Given the description of an element on the screen output the (x, y) to click on. 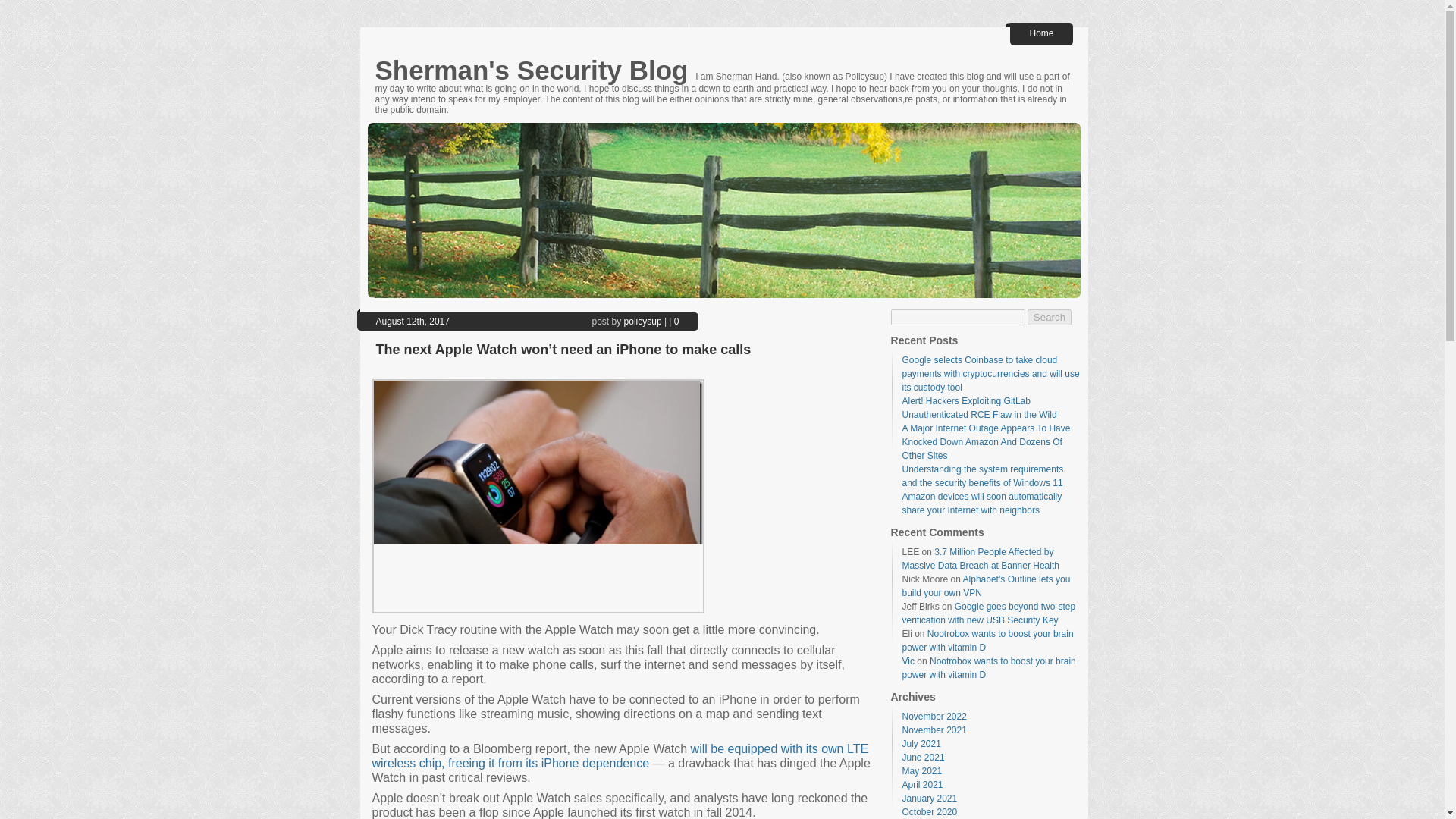
Vic (908, 661)
November 2022 (934, 716)
Search (1049, 317)
November 2021 (934, 729)
Search (1049, 317)
image (537, 496)
